Given the description of an element on the screen output the (x, y) to click on. 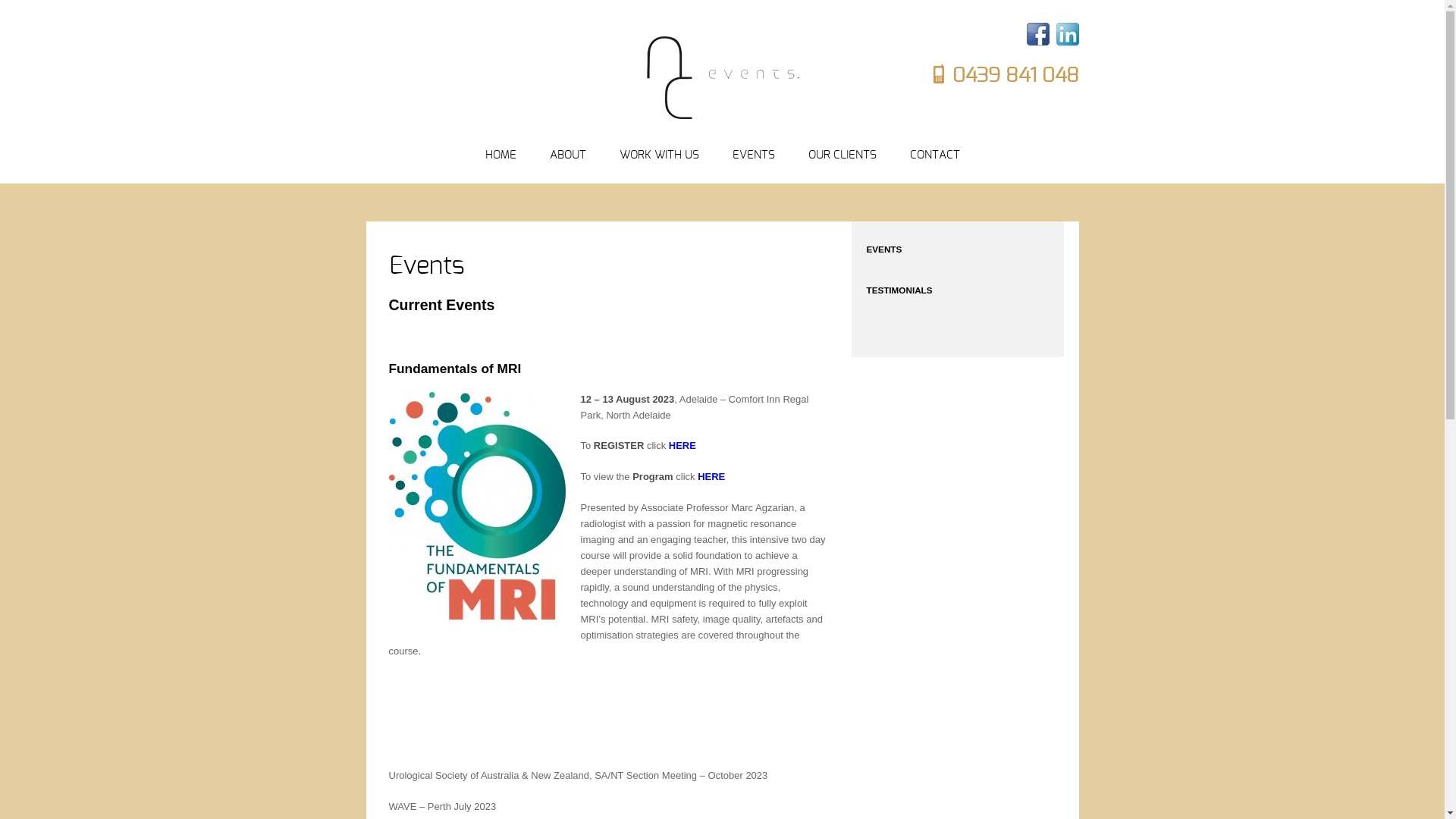
HERE Element type: text (710, 476)
WORK WITH US Element type: text (658, 155)
HOME Element type: text (500, 155)
CONTACT Element type: text (935, 155)
EVENTS Element type: text (753, 155)
OUR CLIENTS Element type: text (842, 155)
Events Element type: text (426, 266)
ABOUT Element type: text (567, 155)
HERE Element type: text (682, 445)
